Given the description of an element on the screen output the (x, y) to click on. 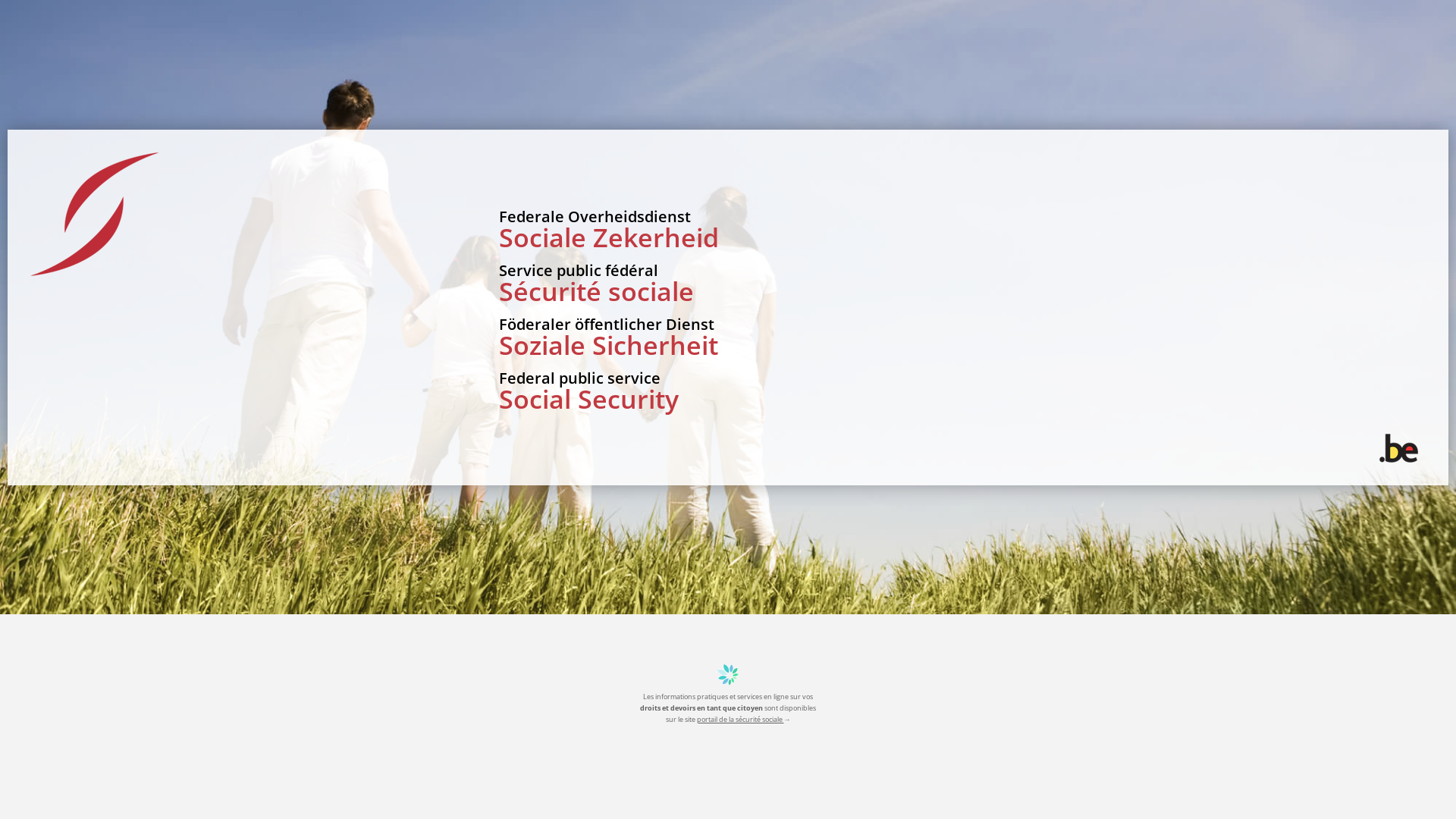
Federale Overheidsdienst
Sociale Zekerheid Element type: text (847, 225)
Federal public service
Social Security Element type: text (847, 388)
